Given the description of an element on the screen output the (x, y) to click on. 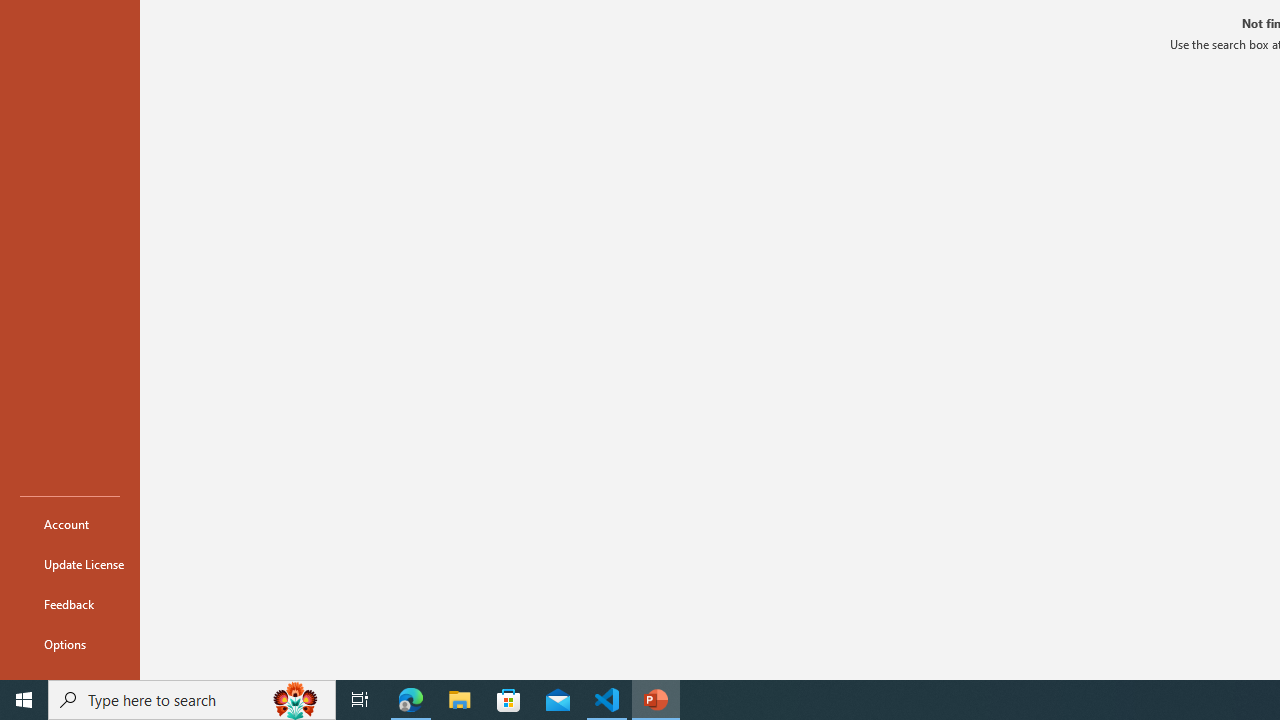
Feedback (69, 603)
Update License (69, 563)
Options (69, 643)
Account (69, 523)
